Given the description of an element on the screen output the (x, y) to click on. 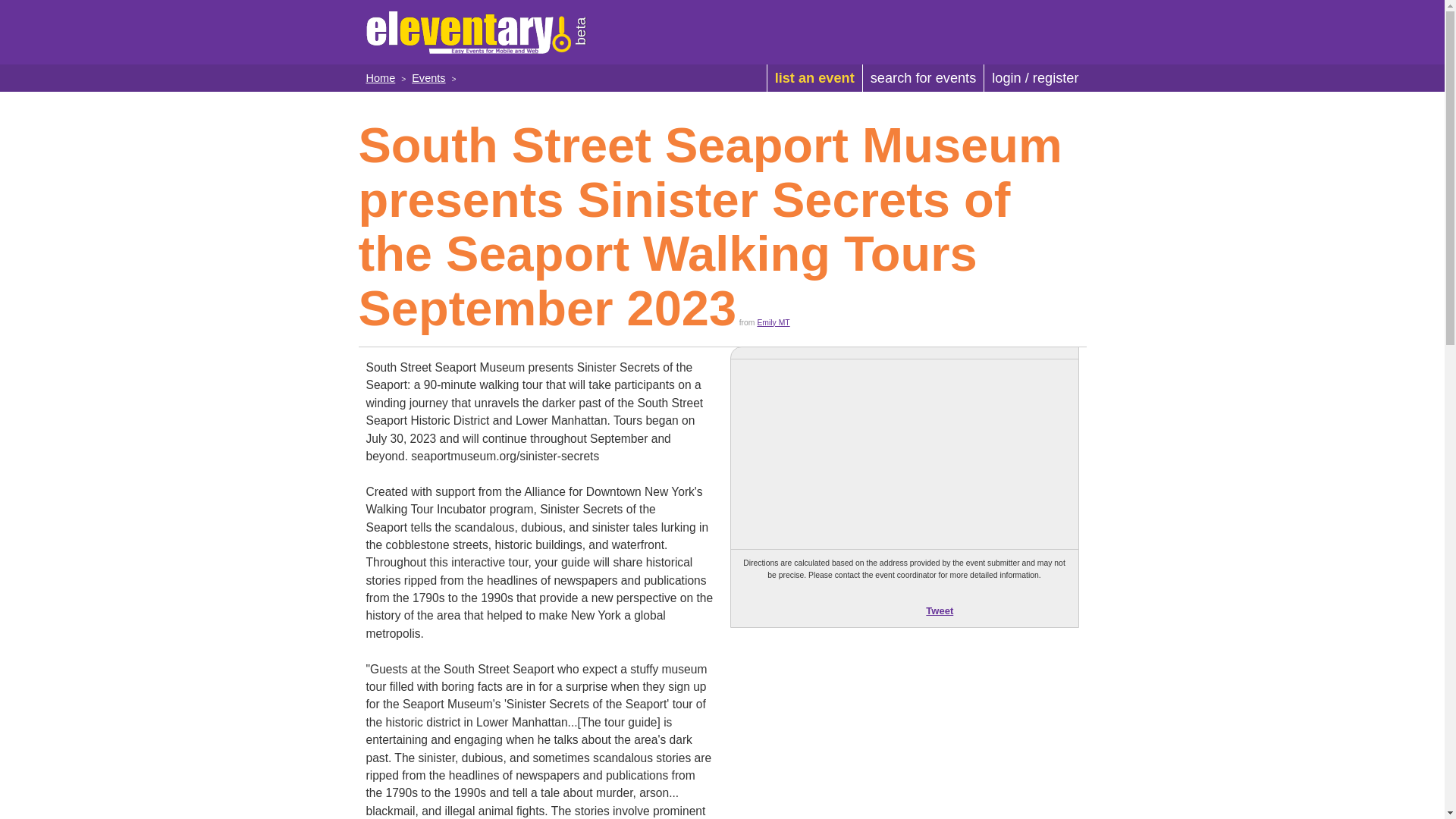
Events (428, 78)
Home (379, 78)
Tweet (939, 610)
list an event (814, 77)
Emily MT (773, 322)
search for events (922, 77)
